Given the description of an element on the screen output the (x, y) to click on. 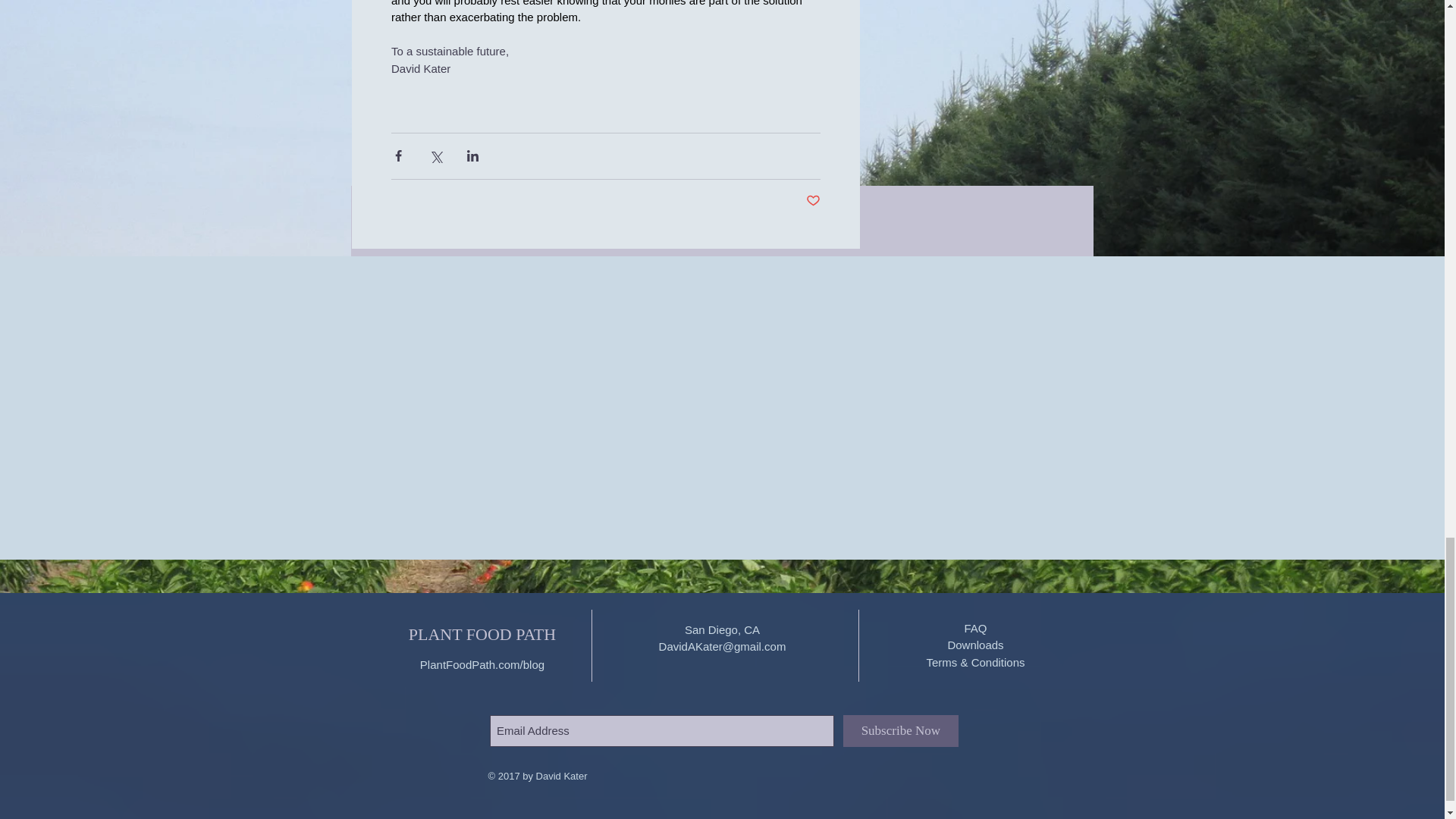
Wix Get Subscribers (724, 713)
Post not marked as liked (812, 201)
